Given the description of an element on the screen output the (x, y) to click on. 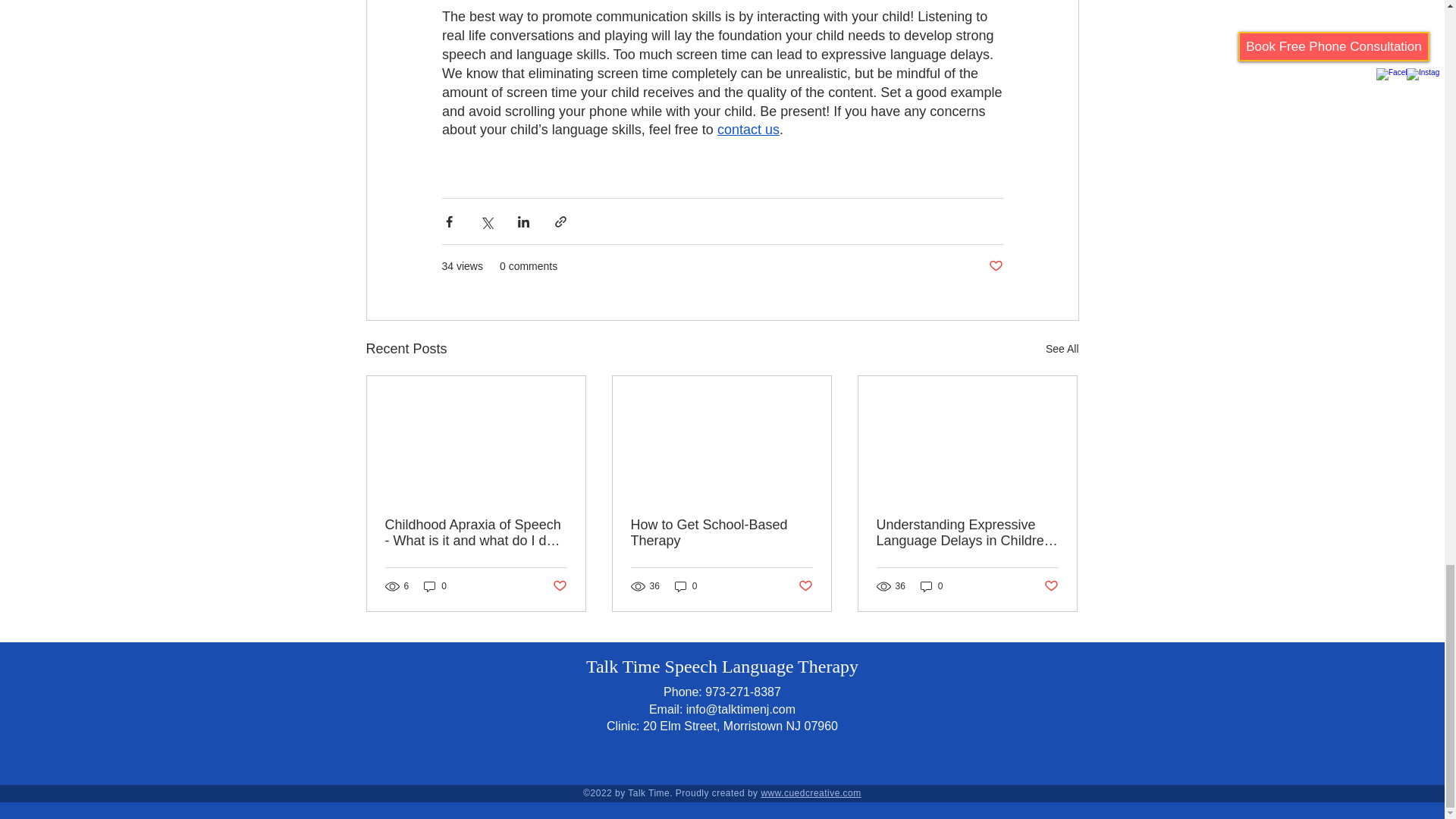
Post not marked as liked (1050, 586)
How to Get School-Based Therapy (721, 532)
0 (931, 586)
contact us (747, 129)
0 (685, 586)
Post not marked as liked (804, 586)
0 (435, 586)
Post not marked as liked (995, 266)
See All (1061, 349)
